Given the description of an element on the screen output the (x, y) to click on. 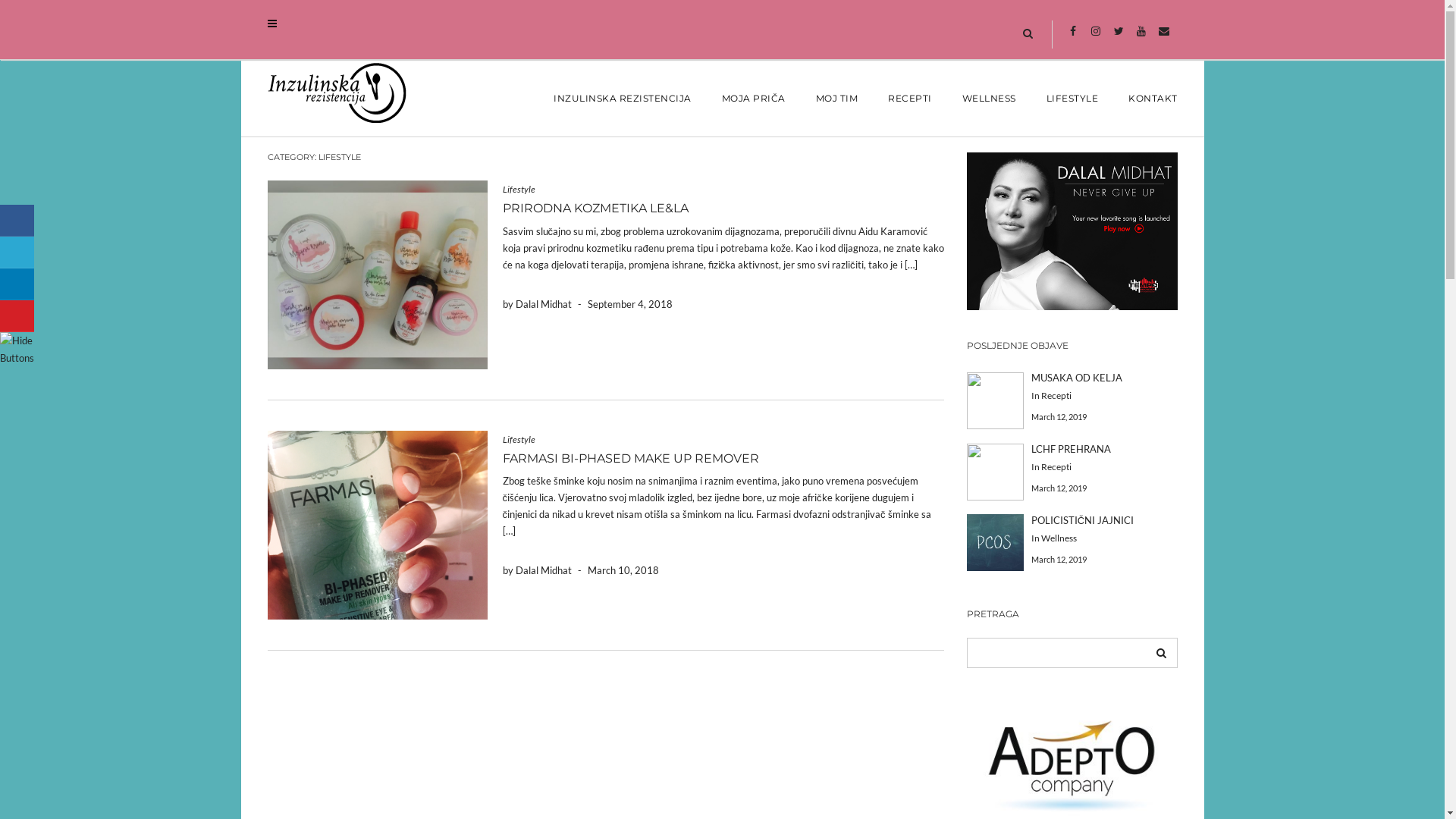
Lifestyle Element type: text (518, 439)
MOJ TIM Element type: text (836, 98)
WELLNESS Element type: text (988, 98)
Hide Buttons Element type: hover (18, 348)
Instagram Element type: text (1094, 29)
Youtube Element type: text (1140, 29)
Share On Youtube Element type: hover (17, 316)
Share This With Your Friends Element type: hover (18, 285)
Lifestyle Element type: text (518, 188)
Share On Linkedin Element type: hover (17, 284)
MUSAKA OD KELJA Element type: text (1076, 377)
LIFESTYLE Element type: text (1072, 98)
LCHF PREHRANA Element type: text (1070, 448)
Facebook Element type: text (1072, 29)
PRIRODNA KOZMETIKA LE&LA Element type: text (594, 207)
Twitter Element type: text (1117, 29)
Mail Element type: text (1163, 29)
KONTAKT Element type: text (1145, 98)
Share On Facebook Element type: hover (17, 220)
FARMASI BI-PHASED MAKE UP REMOVER Element type: text (630, 458)
RECEPTI Element type: text (909, 98)
Share On Twitter Element type: hover (17, 252)
INZULINSKA REZISTENCIJA Element type: text (622, 98)
